Given the description of an element on the screen output the (x, y) to click on. 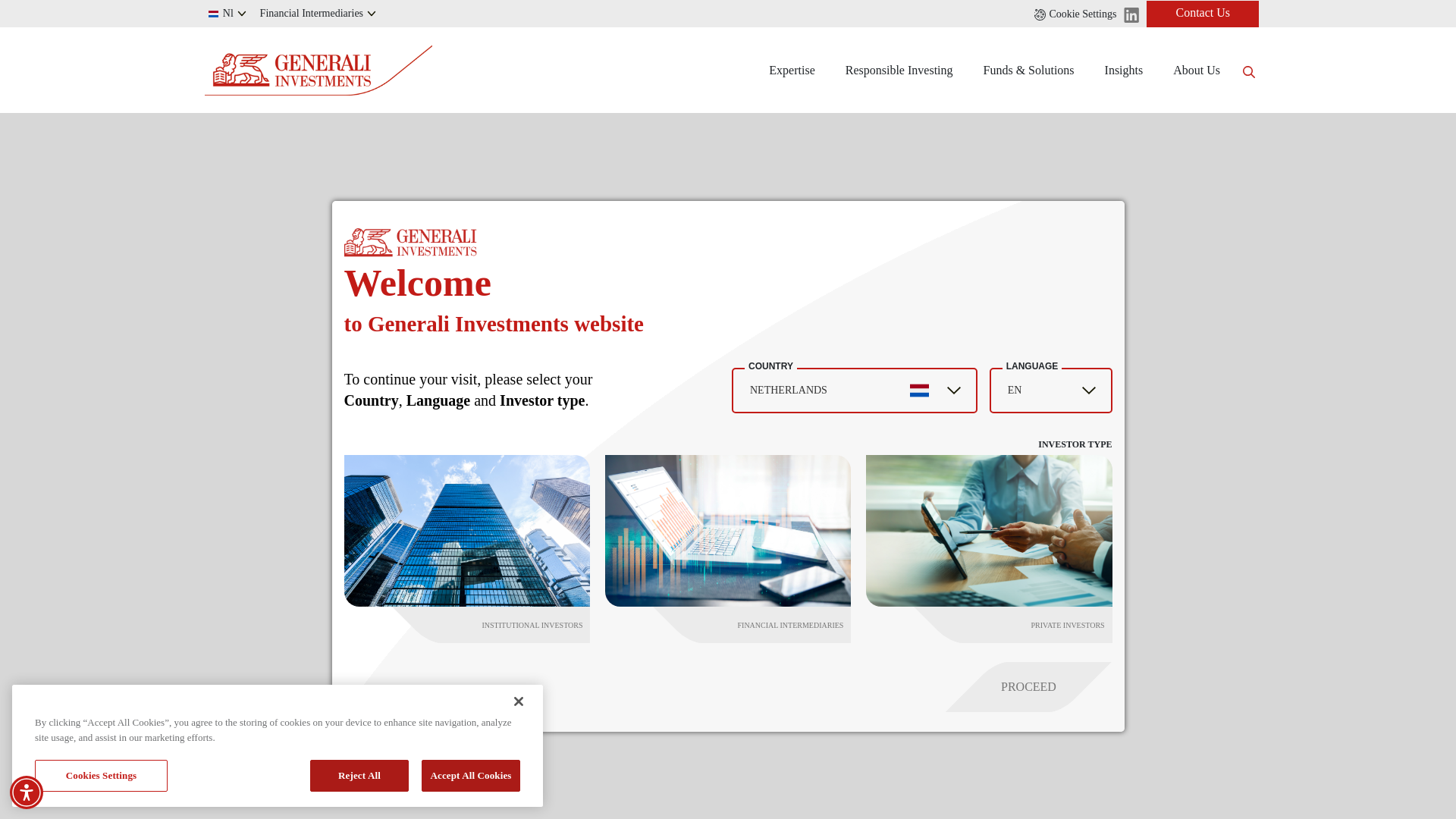
PRIVATE INVESTORS (1000, 624)
PROCEED (1002, 686)
Responsible Investing (898, 70)
Accessibility Menu (26, 792)
INSTITUTIONAL INVESTORS (477, 624)
Contact Us (1203, 13)
FINANCIAL INTERMEDIARIES (738, 624)
